Given the description of an element on the screen output the (x, y) to click on. 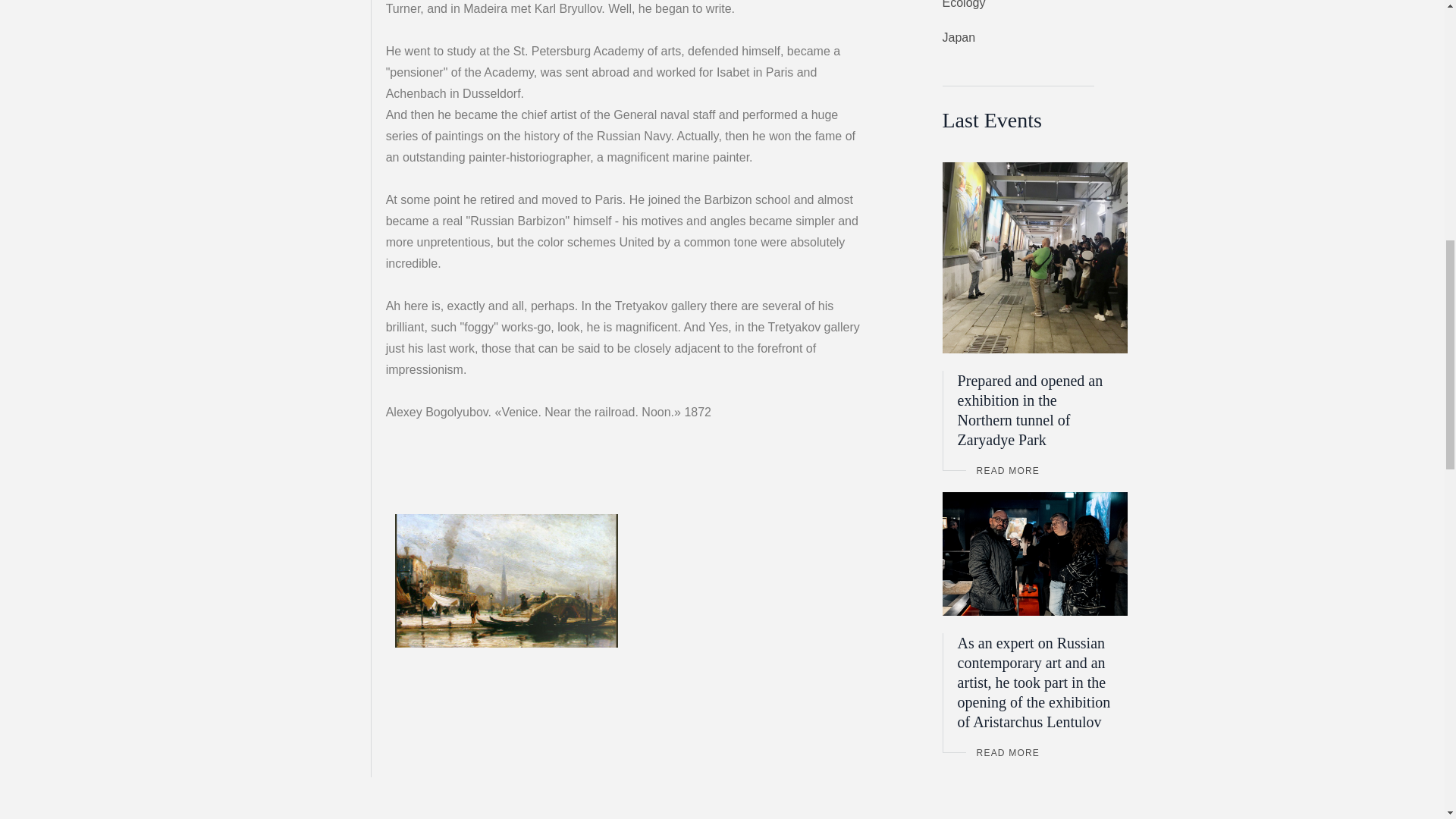
Ecology (1044, 6)
READ MORE (1044, 470)
Japan (1044, 37)
READ MORE (1044, 752)
